Given the description of an element on the screen output the (x, y) to click on. 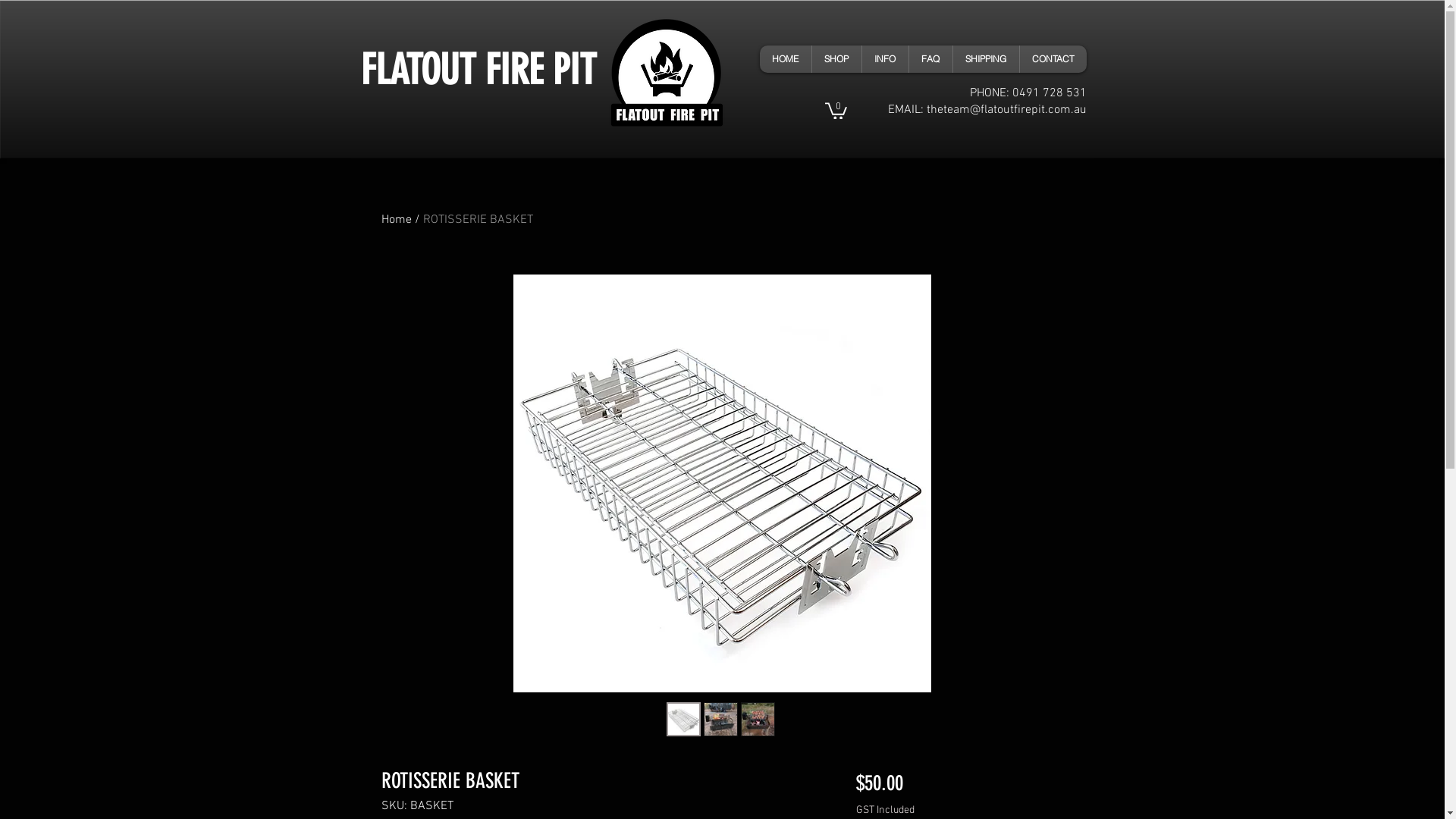
0 Element type: text (836, 109)
CONTACT Element type: text (1052, 58)
Home Element type: text (395, 219)
FAQ Element type: text (930, 58)
SHIPPING Element type: text (985, 58)
INFO Element type: text (884, 58)
SHOP Element type: text (836, 58)
FLATOUT FIRE PIT Element type: text (478, 69)
theteam@flatoutfirepit.com.au Element type: text (1006, 109)
ROTISSERIE BASKET Element type: text (478, 219)
HOME Element type: text (785, 58)
